Given the description of an element on the screen output the (x, y) to click on. 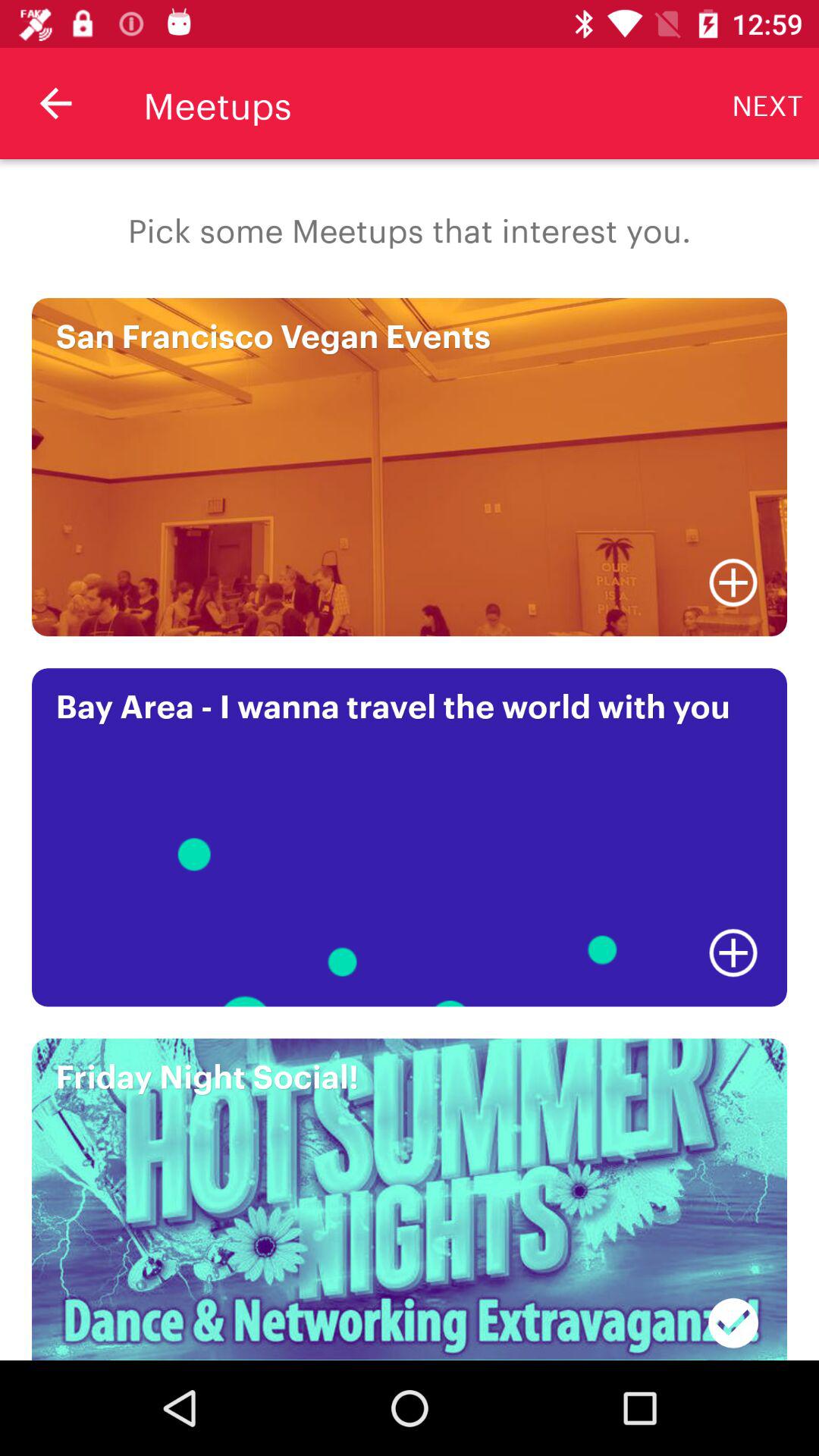
choose the icon above the pick some meetups (55, 103)
